Given the description of an element on the screen output the (x, y) to click on. 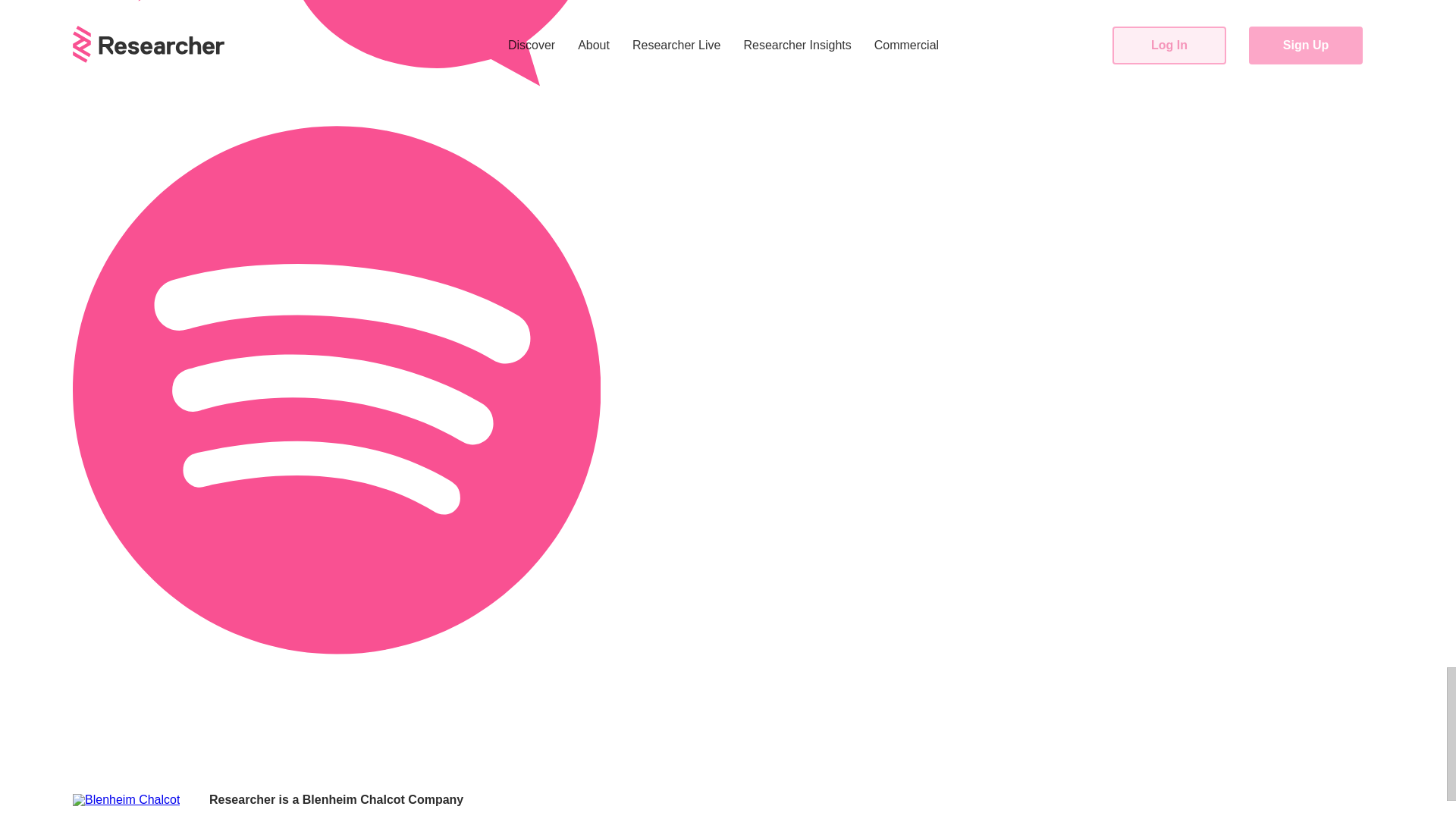
Blenheim Chalcot (353, 799)
Researcher (242, 799)
